Given the description of an element on the screen output the (x, y) to click on. 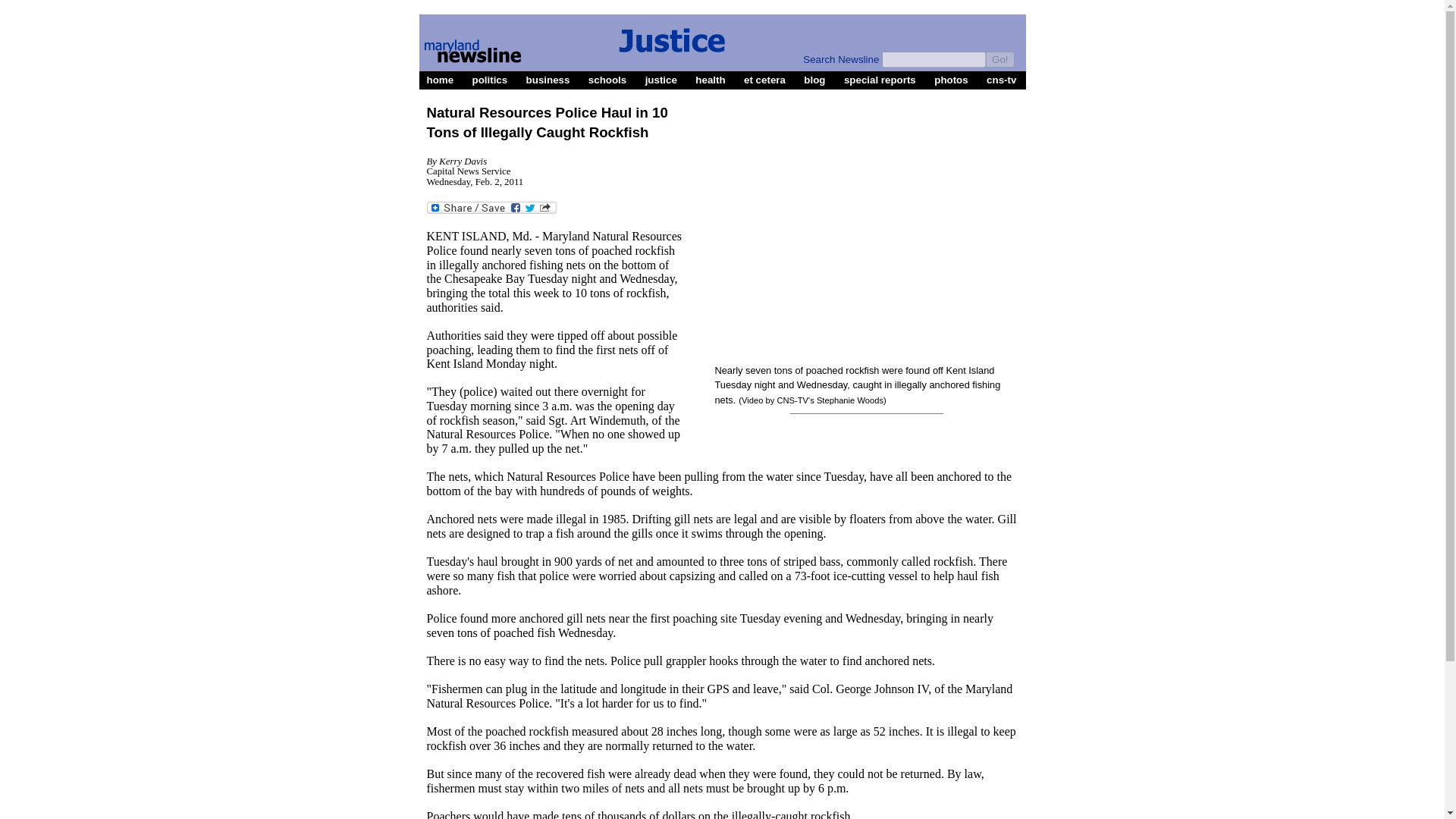
justice (661, 79)
cns-tv (1001, 79)
politics (490, 79)
health (710, 79)
home (440, 79)
special reports (880, 79)
business (547, 79)
photos (950, 79)
et cetera (764, 79)
schools (607, 79)
blog (813, 79)
Go! (999, 59)
Go! (999, 59)
